Given the description of an element on the screen output the (x, y) to click on. 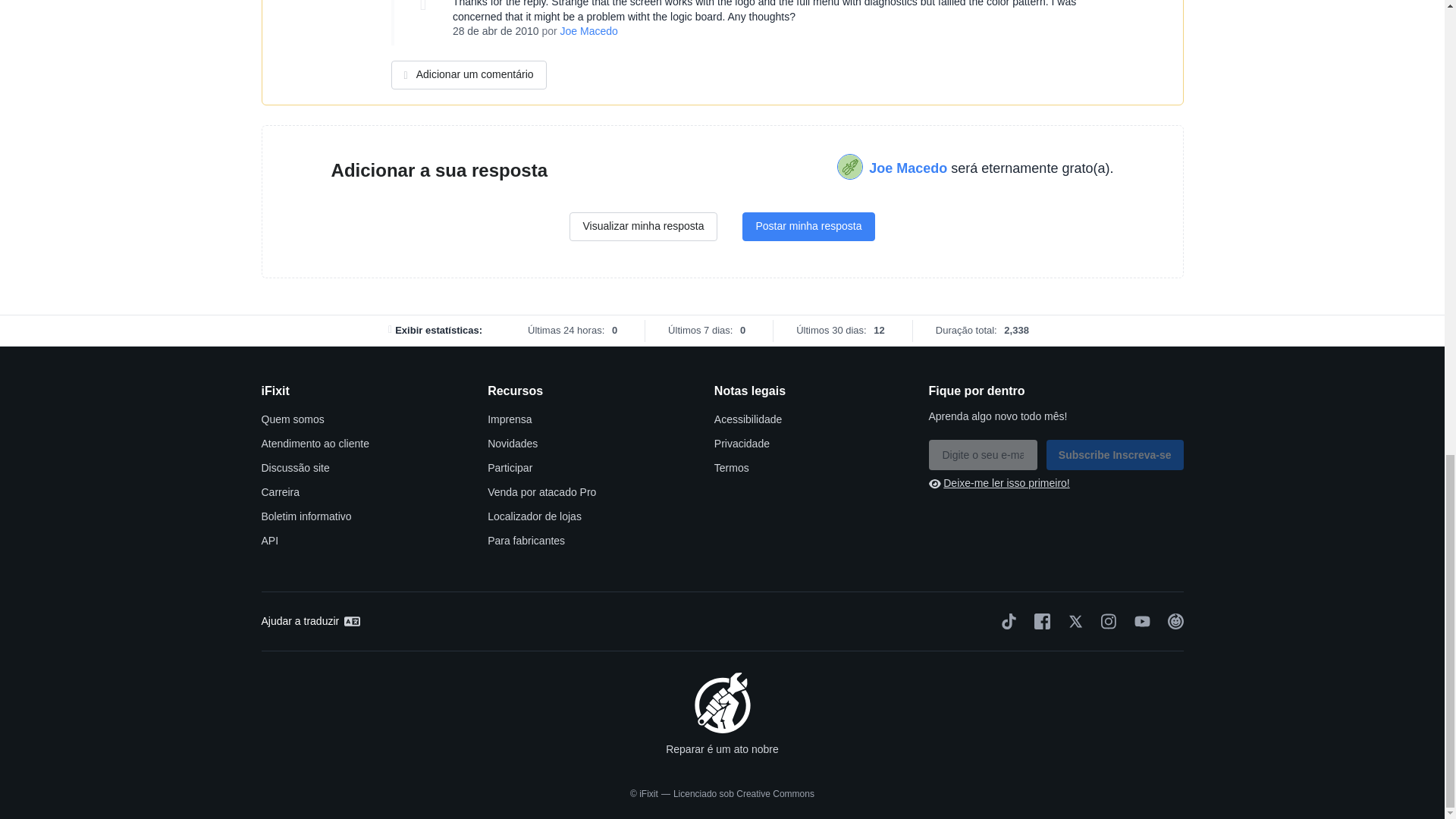
Wed, 28 Apr 2010 19:41:58 -0700 (495, 30)
